Given the description of an element on the screen output the (x, y) to click on. 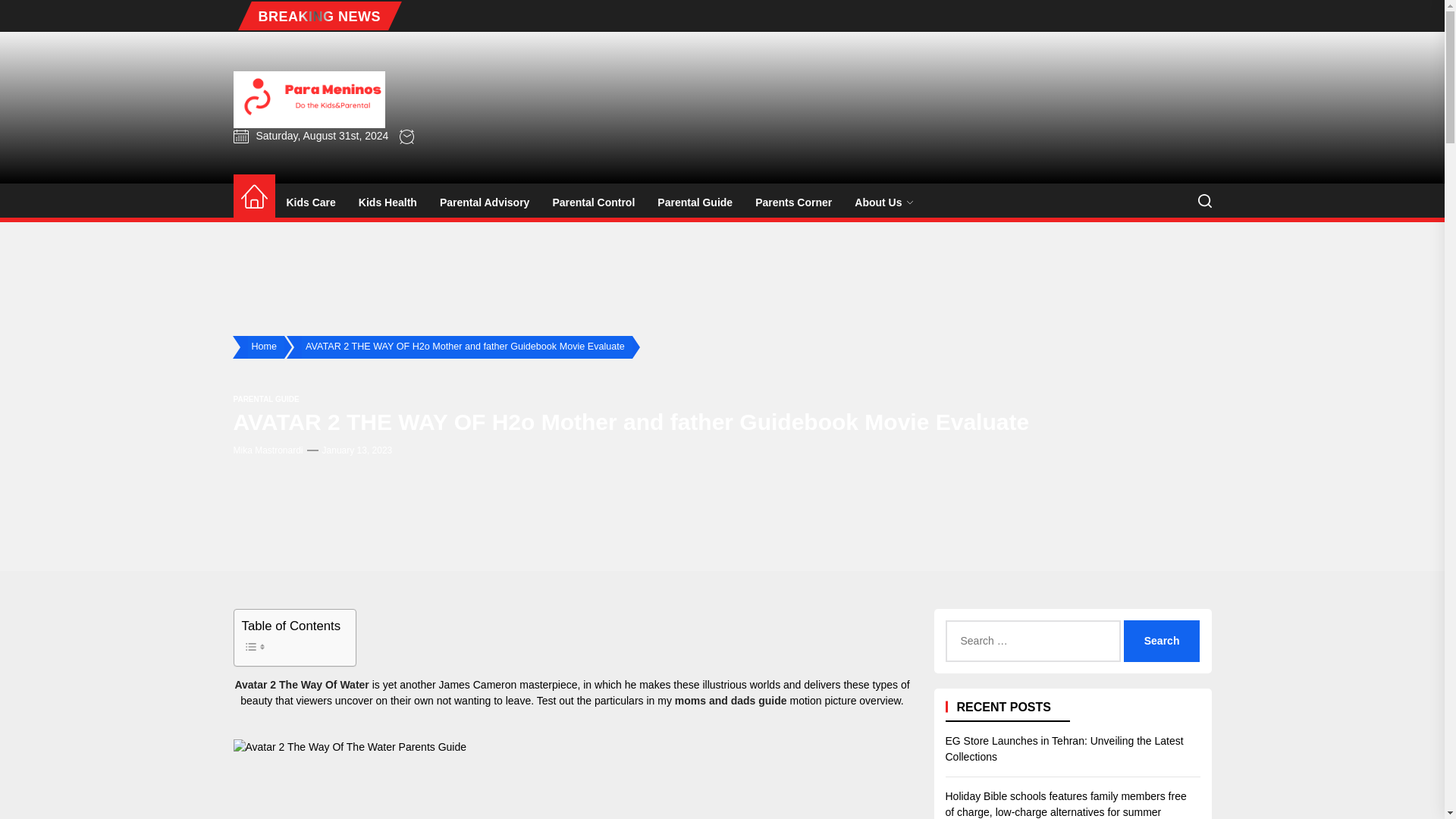
Home (253, 197)
Search (1161, 640)
Parental Advisory (484, 202)
Parents Corner (793, 202)
Parental Control (593, 202)
Kids Health (387, 202)
Para Meninos (336, 151)
Search (1161, 640)
Parental Guide (695, 202)
About Us (883, 202)
